Given the description of an element on the screen output the (x, y) to click on. 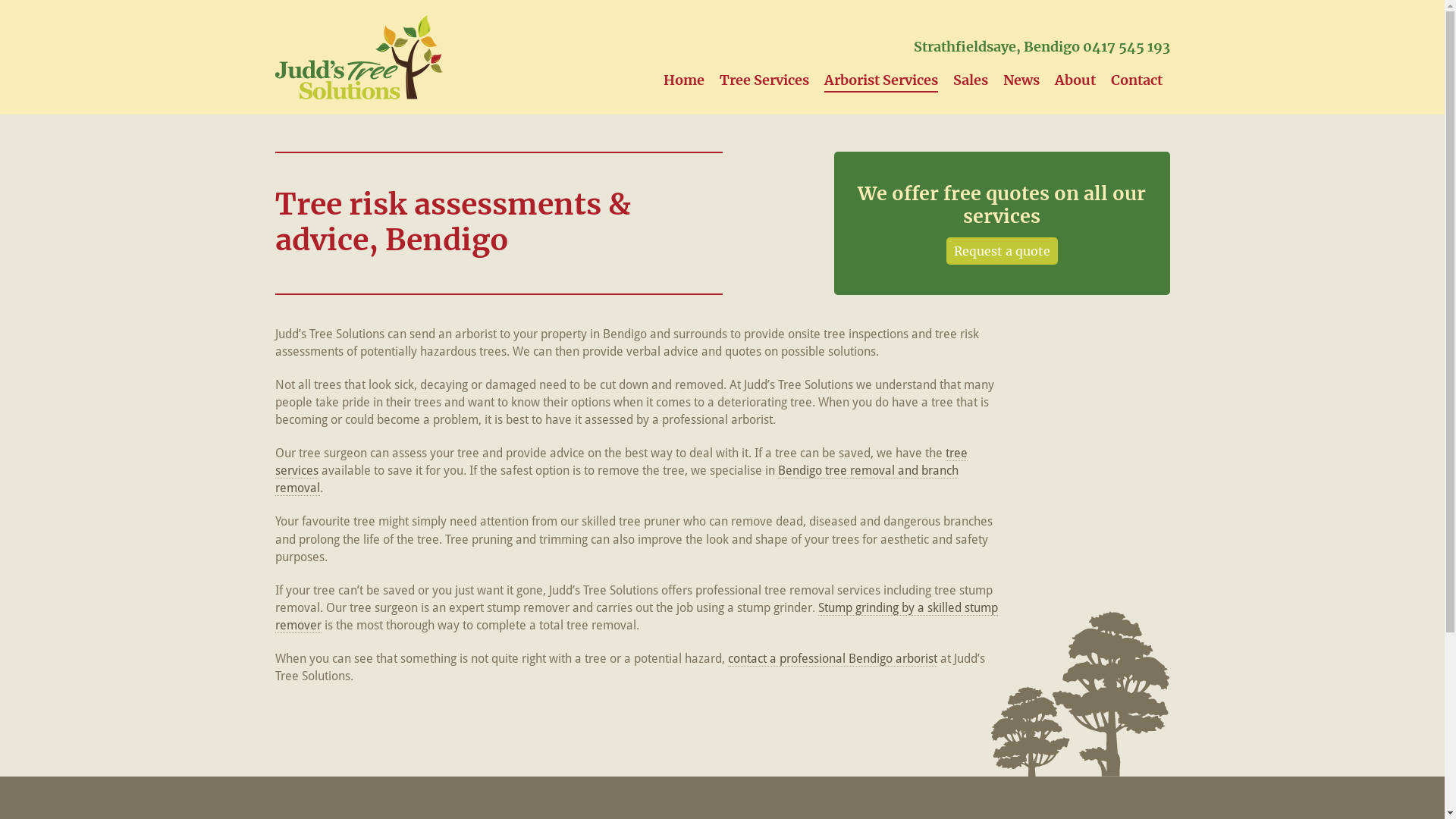
Bendigo tree removal and branch removal Element type: text (615, 479)
Sales Element type: text (969, 80)
Request a quote Element type: text (1001, 250)
Stump grinding by a skilled stump remover Element type: text (635, 616)
Tree Services Element type: text (763, 80)
About Element type: text (1074, 80)
Home Element type: text (682, 80)
Contact Element type: text (1135, 80)
tree services Element type: text (620, 461)
News Element type: text (1020, 80)
contact a professional Bendigo arborist Element type: text (832, 658)
Arborist Services Element type: text (880, 80)
